Given the description of an element on the screen output the (x, y) to click on. 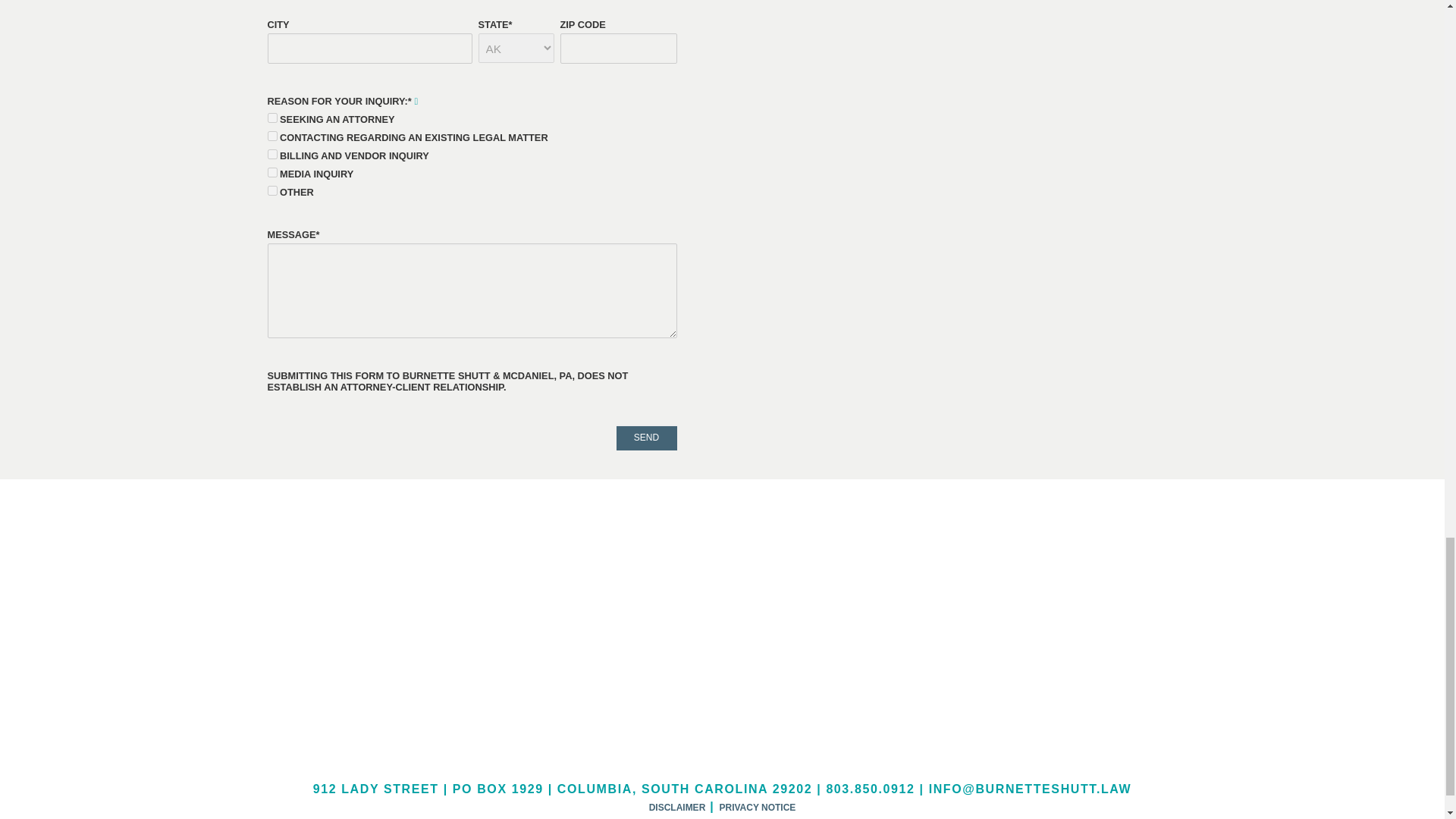
Seeking an attorney (271, 117)
Billing and Vendor inquiry (271, 153)
Other (271, 190)
Media inquiry (271, 172)
Contacting regarding an existing legal matter (271, 135)
Send (646, 437)
